Given the description of an element on the screen output the (x, y) to click on. 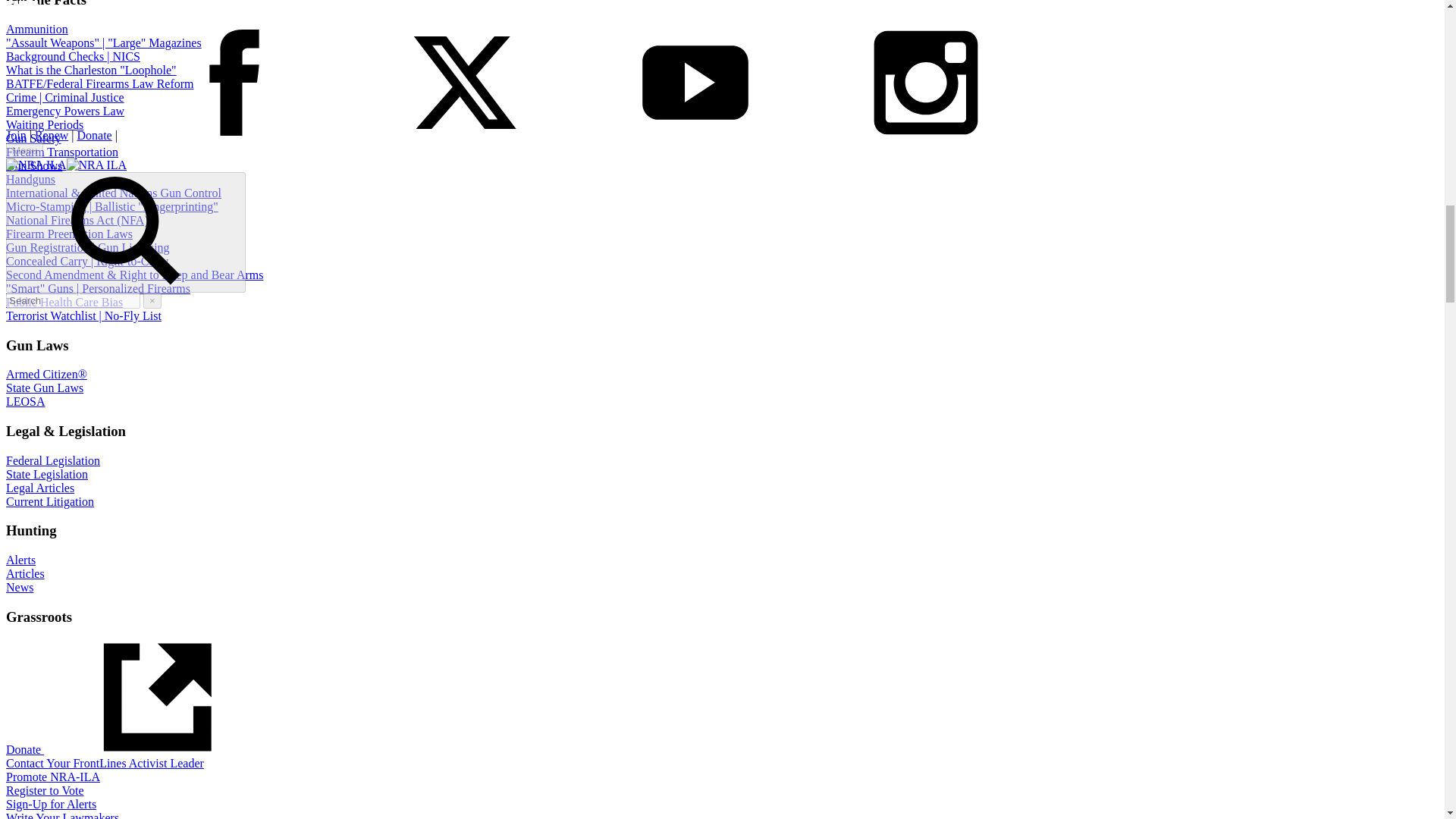
Waiting Periods (43, 124)
Handguns (30, 178)
What is the Charleston "Loophole" (90, 69)
Emergency Powers Law (64, 110)
Firearm Transportation (61, 151)
Gun Shows (33, 164)
Gun Safety (33, 137)
Ammunition (36, 29)
